Given the description of an element on the screen output the (x, y) to click on. 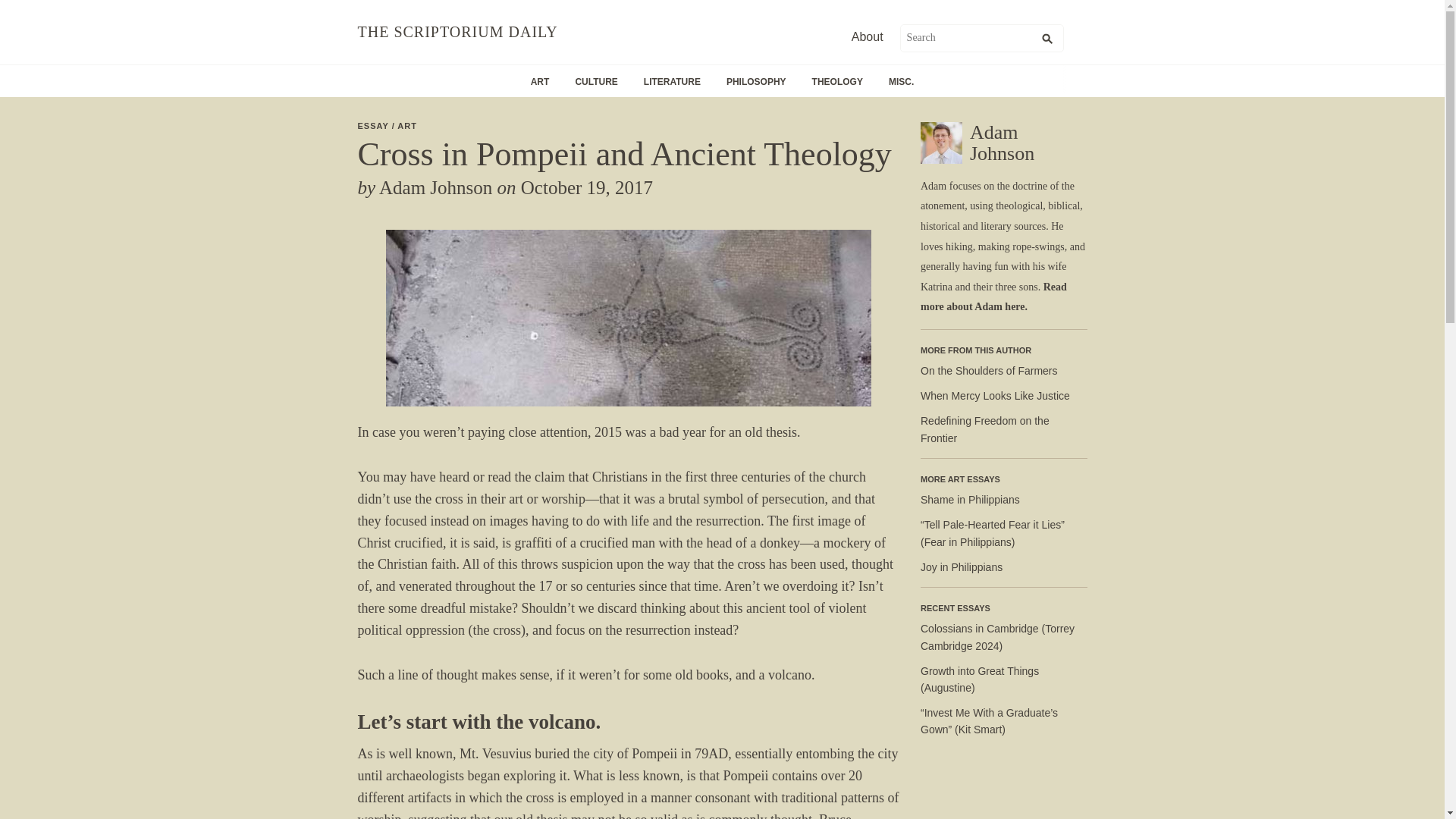
Joy in Philippians (961, 567)
ART (539, 80)
Shame in Philippians (970, 499)
On the Shoulders of Farmers (989, 370)
Read more about Adam here. (993, 296)
MISC. (900, 80)
CULTURE (595, 80)
THE SCRIPTORIUM DAILY (457, 31)
THEOLOGY (837, 80)
PHILOSOPHY (755, 80)
When Mercy Looks Like Justice (995, 395)
Joy in Philippians (961, 567)
About (867, 36)
Redefining Freedom on the Frontier (984, 428)
Shame in Philippians (970, 499)
